Given the description of an element on the screen output the (x, y) to click on. 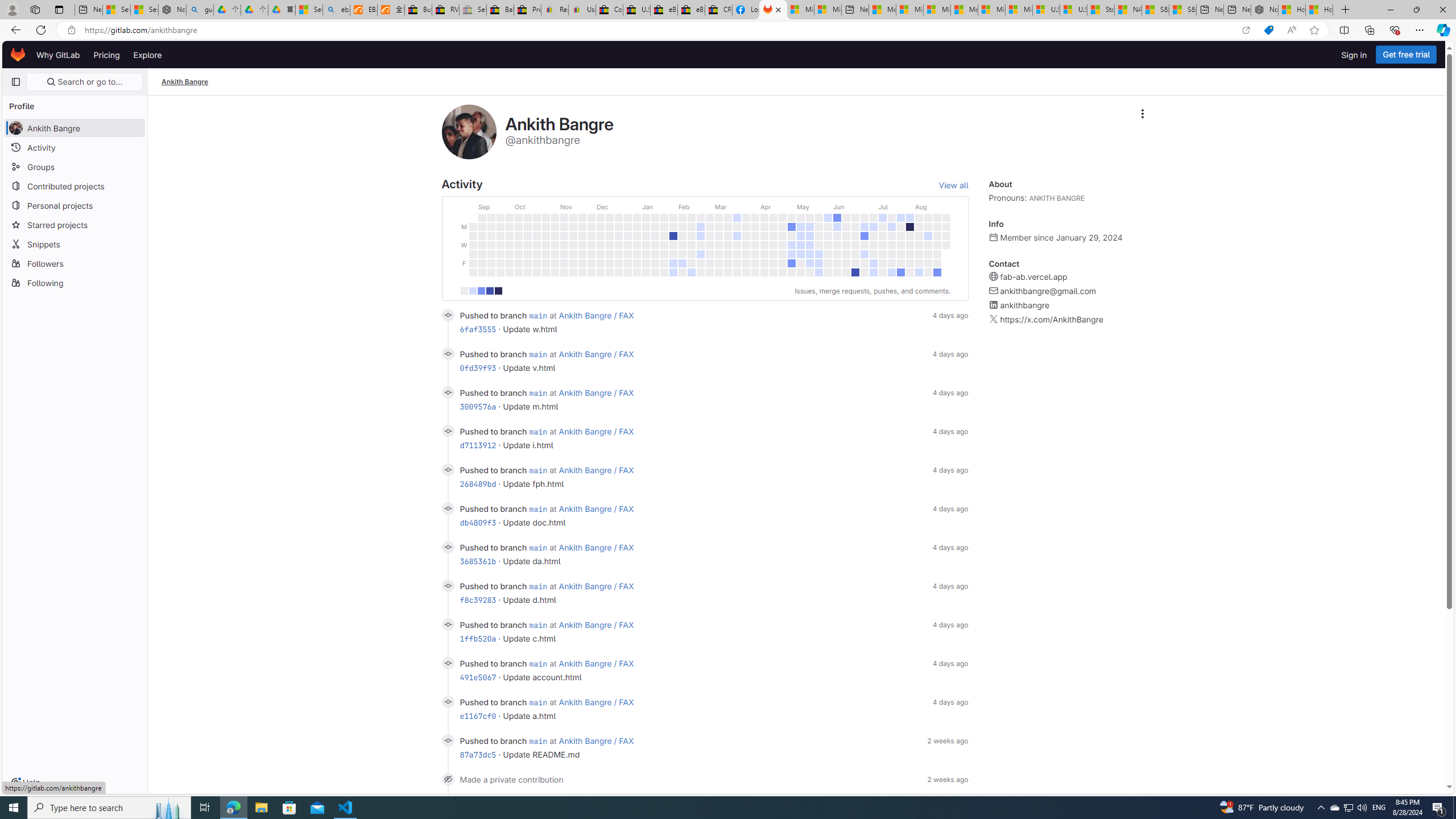
ebay - Search (336, 9)
